Given the description of an element on the screen output the (x, y) to click on. 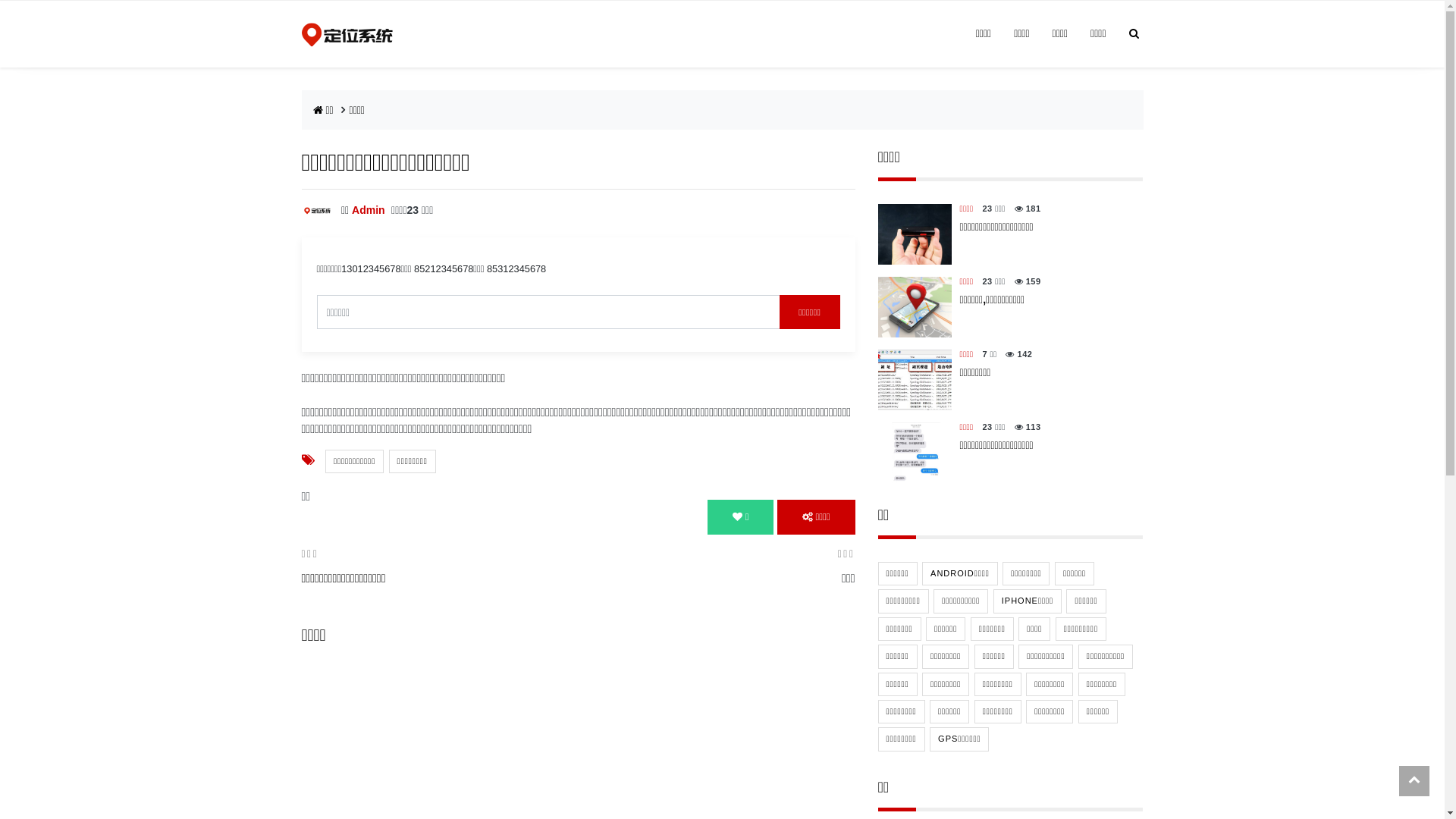
Admin Element type: text (368, 209)
